Given the description of an element on the screen output the (x, y) to click on. 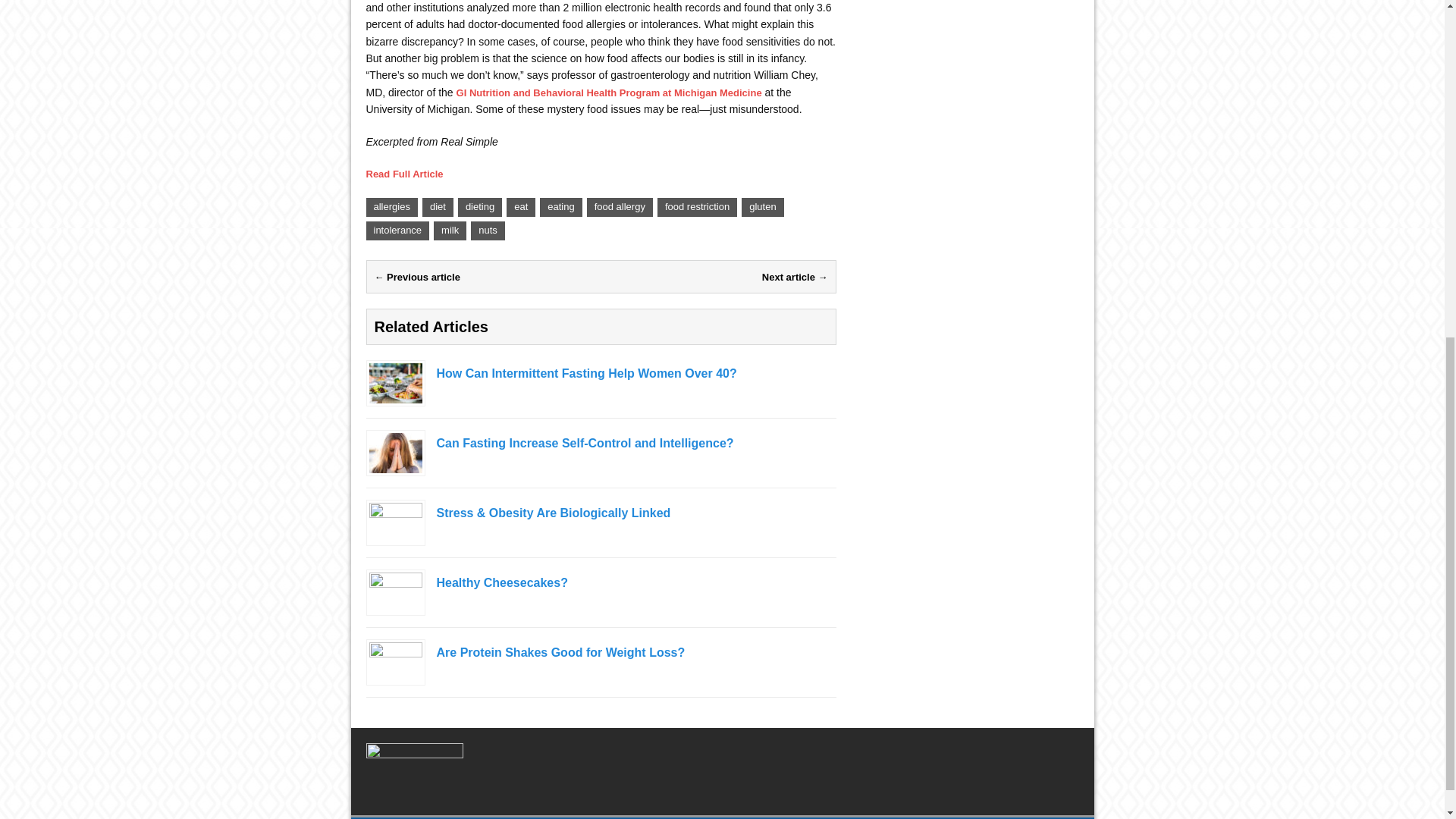
food restriction (697, 207)
milk (449, 230)
intolerance (397, 230)
Can Fasting Increase Self-Control and Intelligence? (600, 443)
gluten (762, 207)
dieting (480, 207)
food allergy (619, 207)
Healthy Cheesecakes? (395, 604)
nuts (487, 230)
How Can Intermittent Fasting Help Women Over 40? (600, 374)
